Given the description of an element on the screen output the (x, y) to click on. 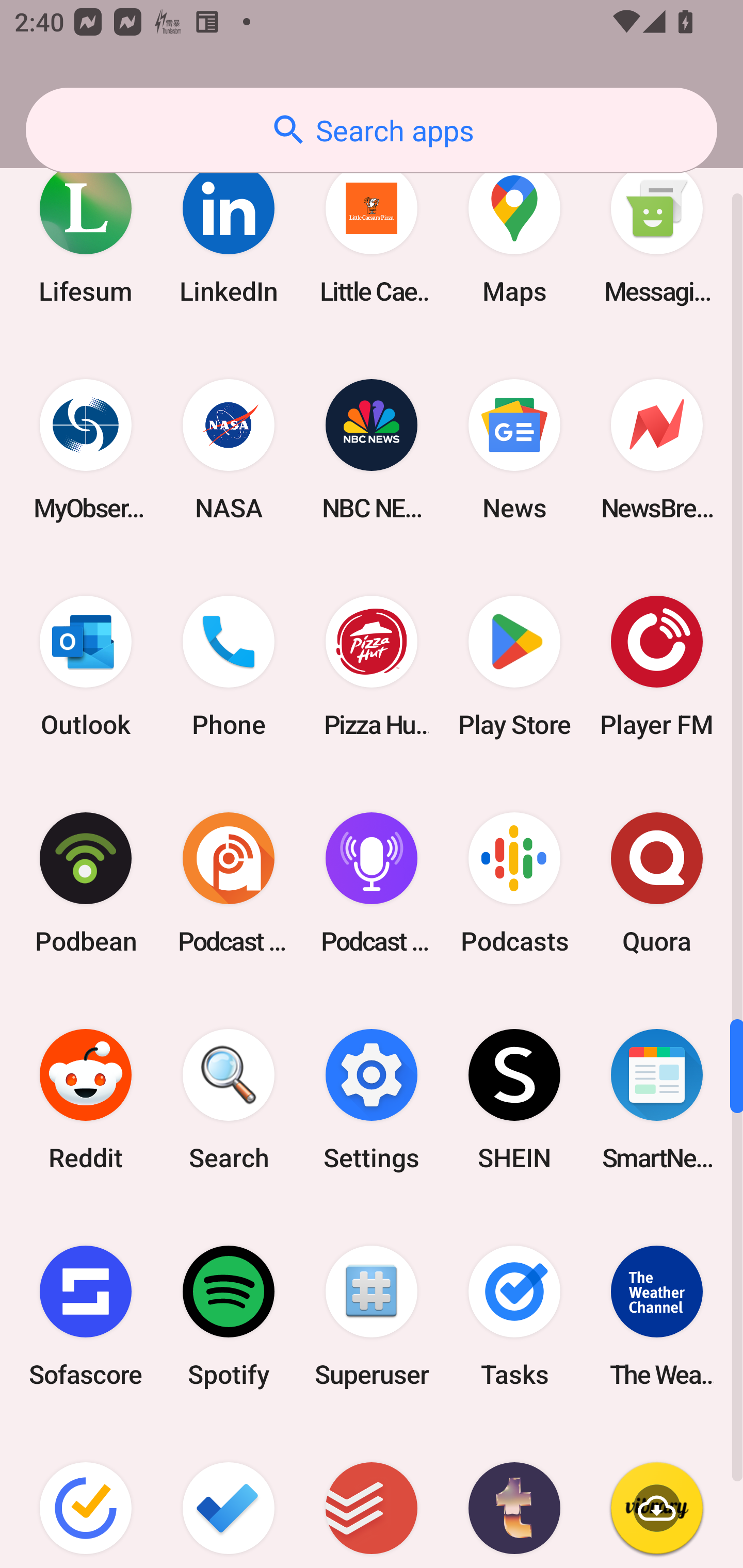
  Search apps (371, 130)
Lifesum (85, 233)
LinkedIn (228, 233)
Little Caesars Pizza (371, 233)
Maps (514, 233)
Messaging (656, 233)
MyObservatory (85, 449)
NASA (228, 449)
NBC NEWS (371, 449)
News (514, 449)
NewsBreak (656, 449)
Outlook (85, 666)
Phone (228, 666)
Pizza Hut HK & Macau (371, 666)
Play Store (514, 666)
Player FM (656, 666)
Podbean (85, 882)
Podcast Addict (228, 882)
Podcast Player (371, 882)
Podcasts (514, 882)
Quora (656, 882)
Reddit (85, 1098)
Search (228, 1098)
Settings (371, 1098)
SHEIN (514, 1098)
SmartNews (656, 1098)
Sofascore (85, 1316)
Spotify (228, 1316)
Superuser (371, 1316)
Tasks (514, 1316)
The Weather Channel (656, 1316)
TickTick (85, 1496)
To Do (228, 1496)
Todoist (371, 1496)
Tumblr (514, 1496)
Vibrary (656, 1496)
